Given the description of an element on the screen output the (x, y) to click on. 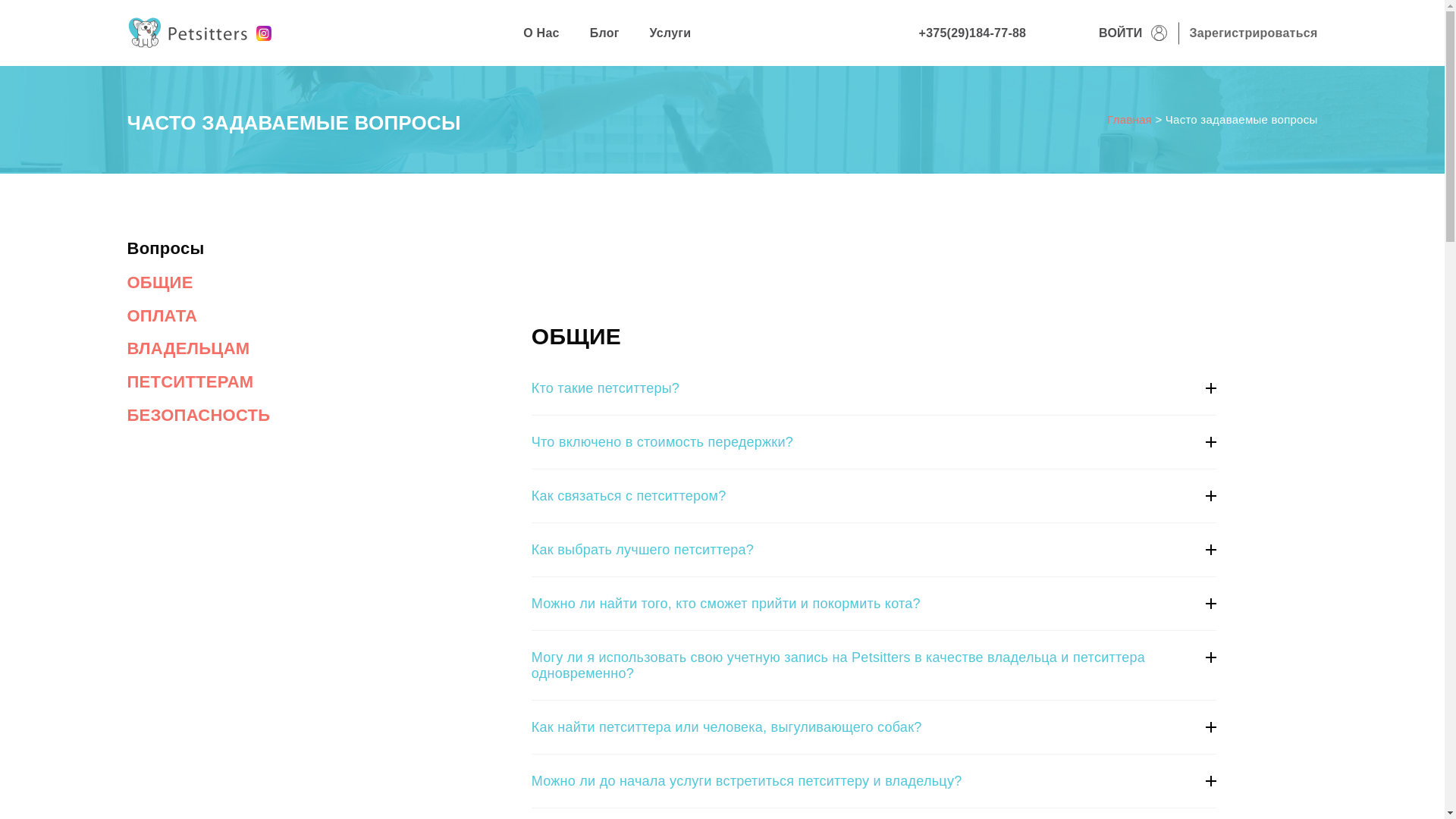
+375(29)184-77-88 Element type: text (972, 33)
